Given the description of an element on the screen output the (x, y) to click on. 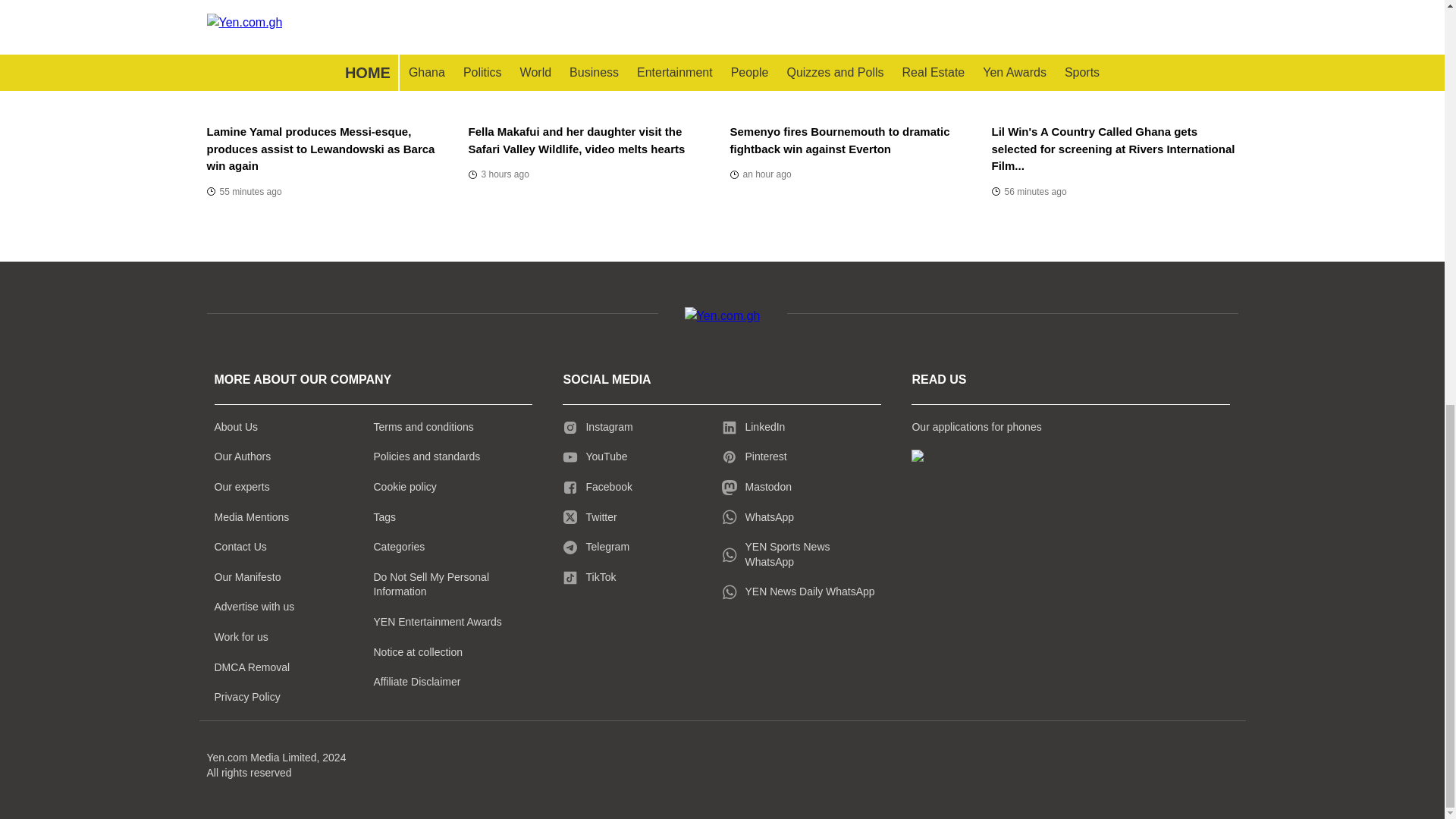
2024-08-31T17:01:12Z (1029, 191)
2024-08-31T16:27:18Z (759, 174)
2024-08-31T17:01:39Z (243, 191)
2024-08-31T14:26:23Z (498, 174)
